Given the description of an element on the screen output the (x, y) to click on. 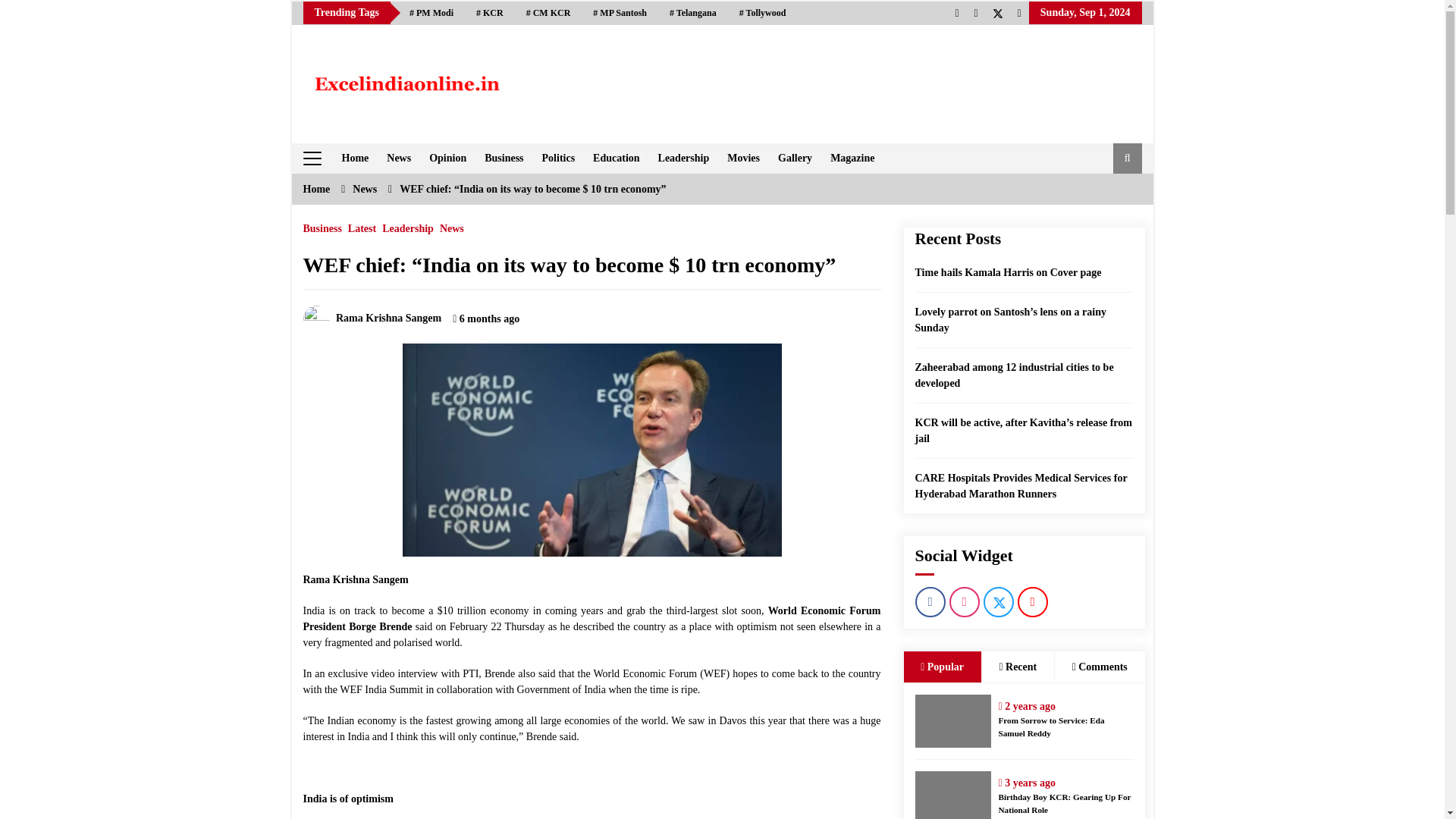
Magazine (852, 158)
Home (354, 158)
Rama Krishna Sangem (372, 317)
News (451, 225)
News (364, 188)
Leadership (407, 225)
Tollywood (762, 12)
Business (504, 158)
Latest (361, 225)
Leadership (684, 158)
